Given the description of an element on the screen output the (x, y) to click on. 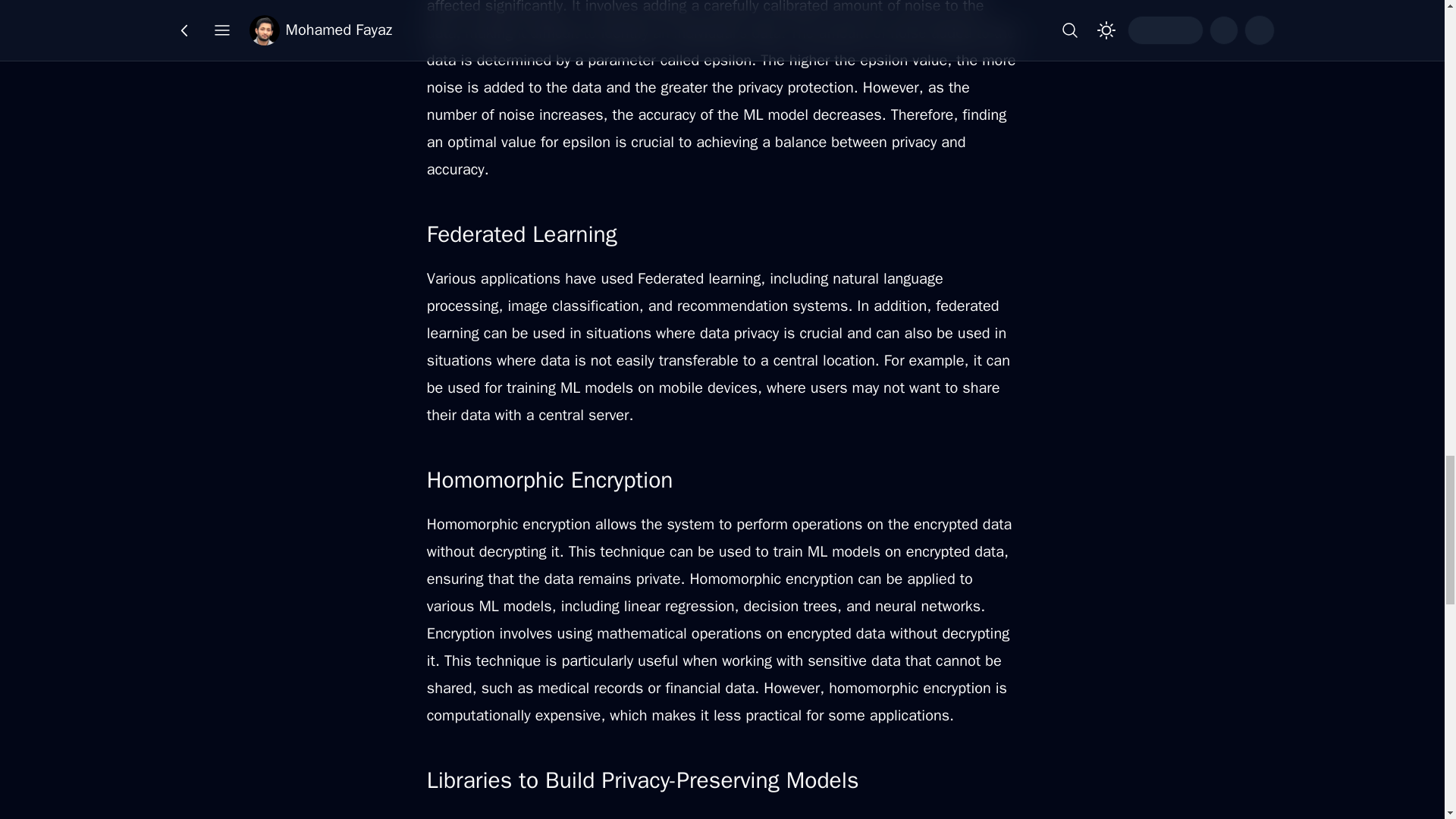
Differential privacy in Tensorflow (564, 816)
